Given the description of an element on the screen output the (x, y) to click on. 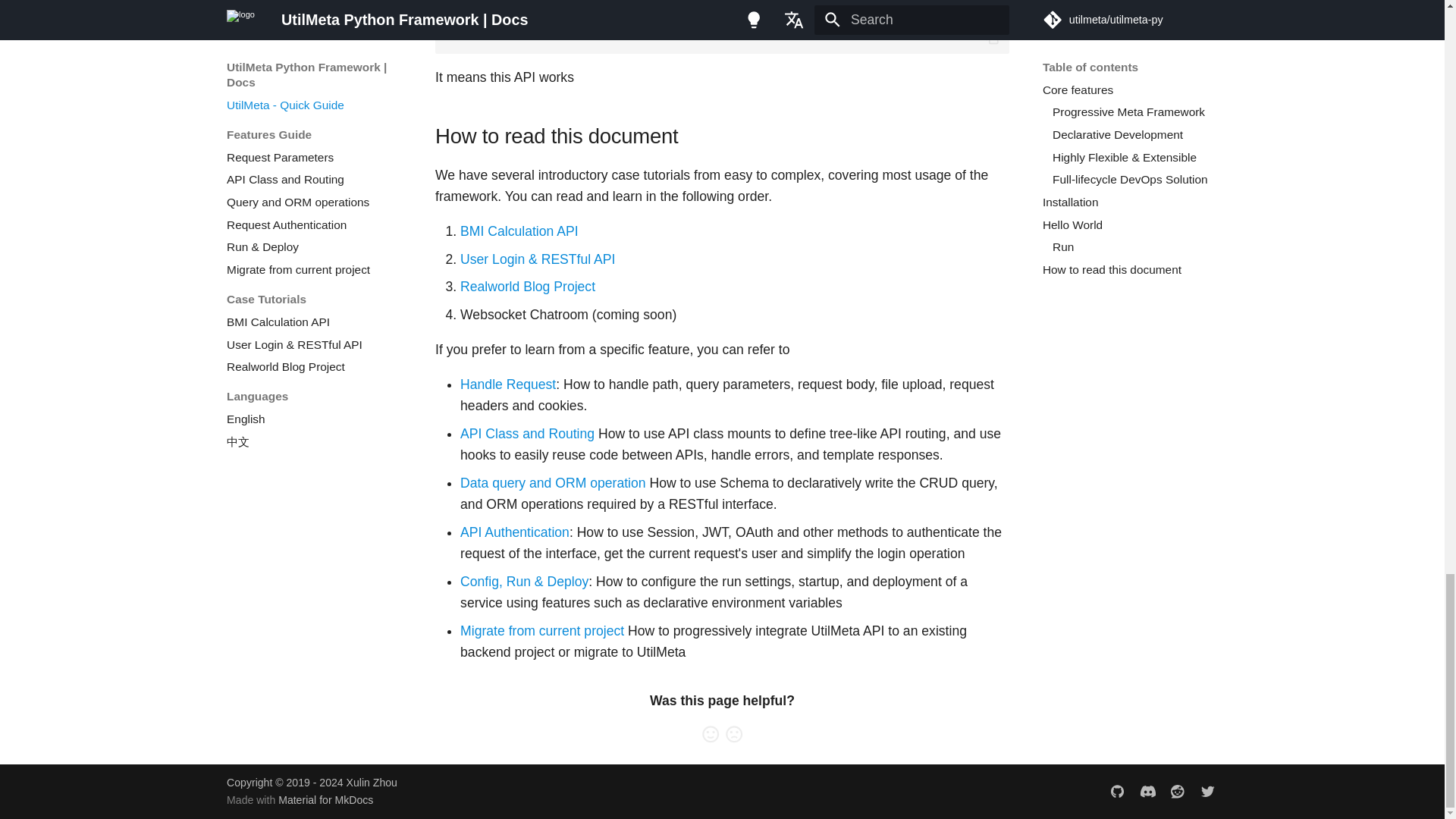
Copy to clipboard (992, 36)
